Given the description of an element on the screen output the (x, y) to click on. 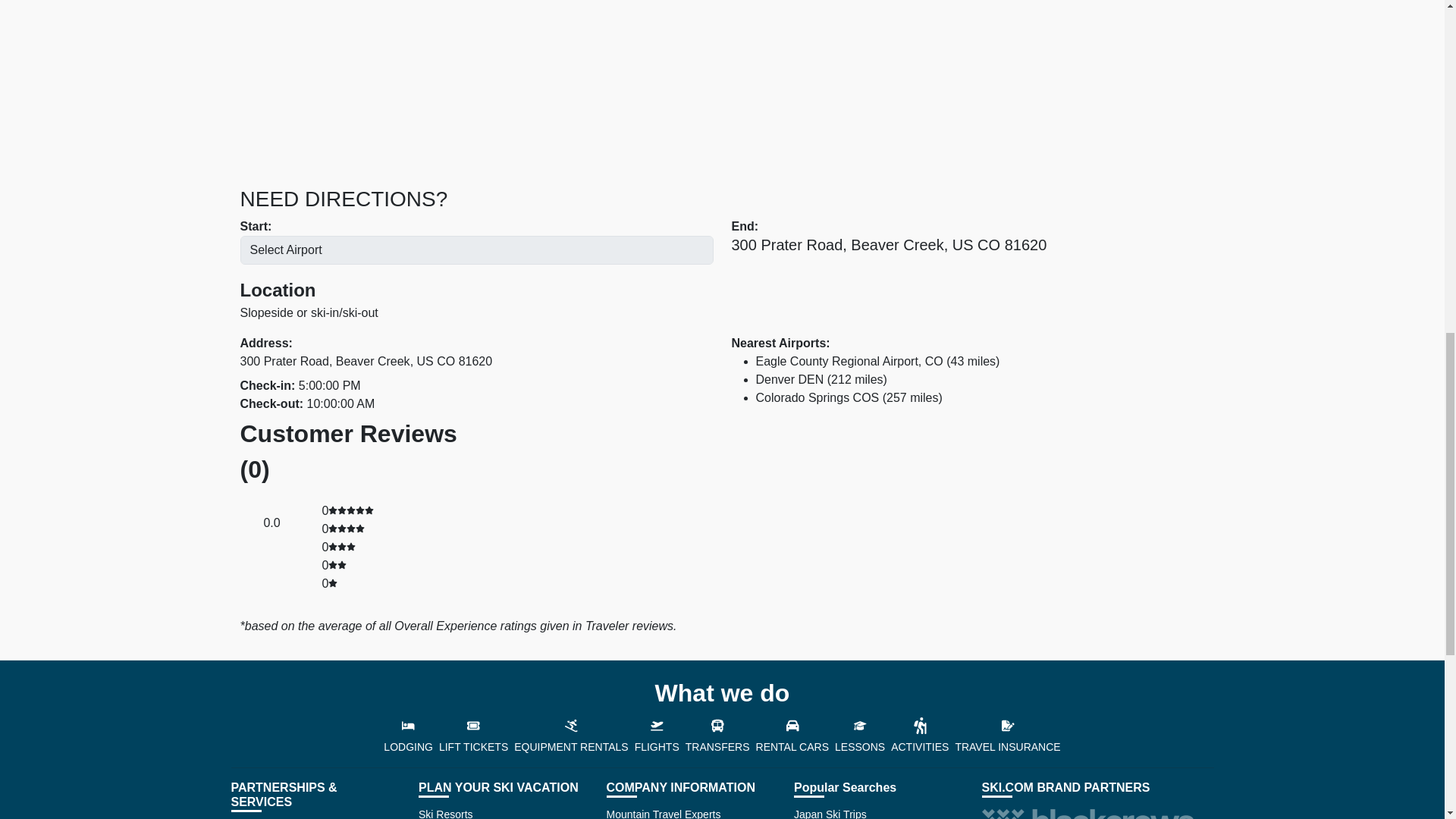
 0 (342, 546)
 0 (351, 510)
 0 (337, 564)
 0 (347, 528)
